Given the description of an element on the screen output the (x, y) to click on. 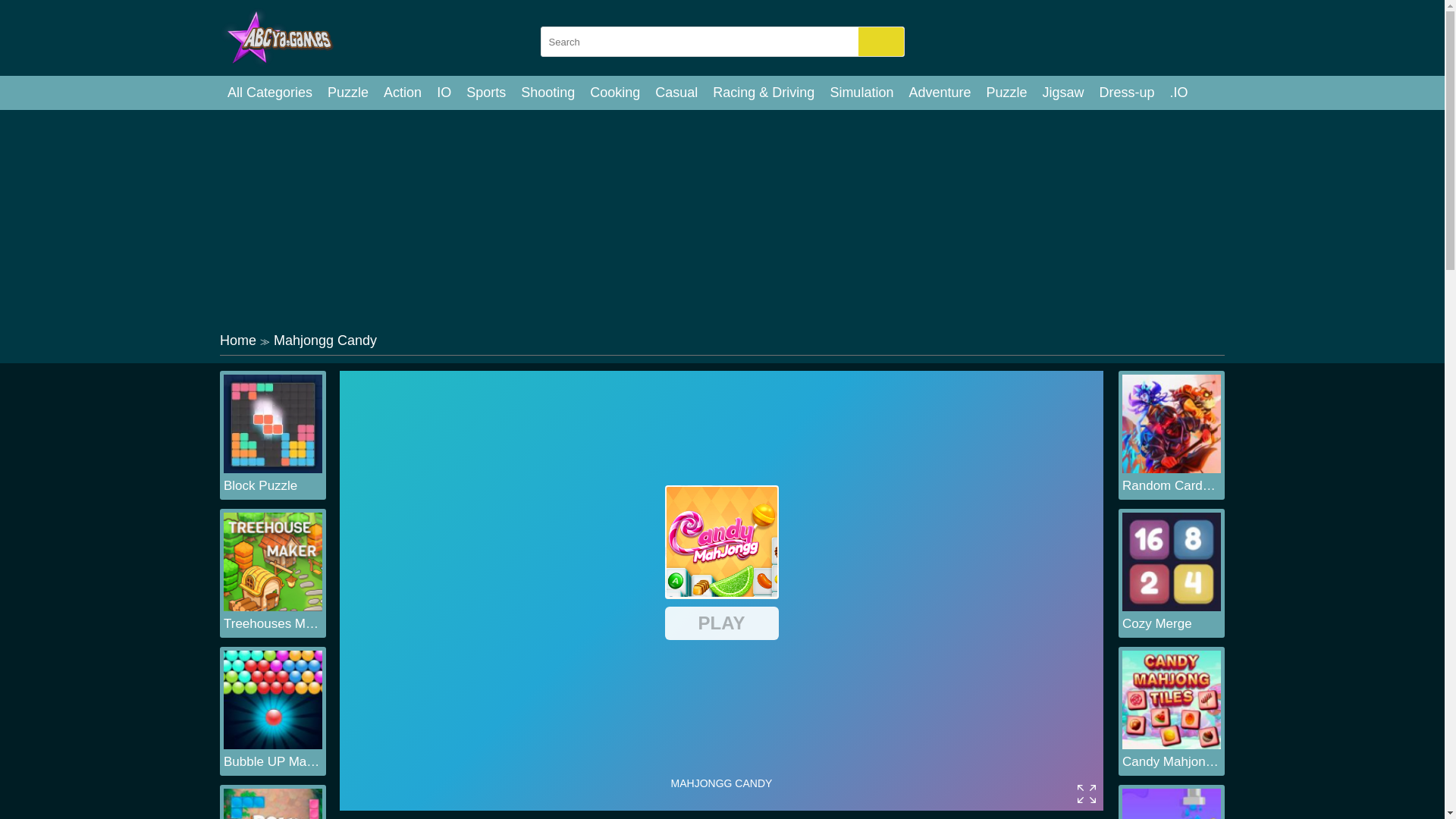
.IO (1178, 92)
Puzzle (1005, 92)
Block Puzzle (272, 485)
Dress-up (1126, 92)
Adventure (939, 92)
Sports (485, 92)
Cooking (614, 92)
Sports (485, 92)
Treehouses Maker (272, 623)
Puzzle (347, 92)
Puzzle (1005, 92)
Puzzle (347, 92)
IO (443, 92)
Casual (675, 92)
.IO (1178, 92)
